Given the description of an element on the screen output the (x, y) to click on. 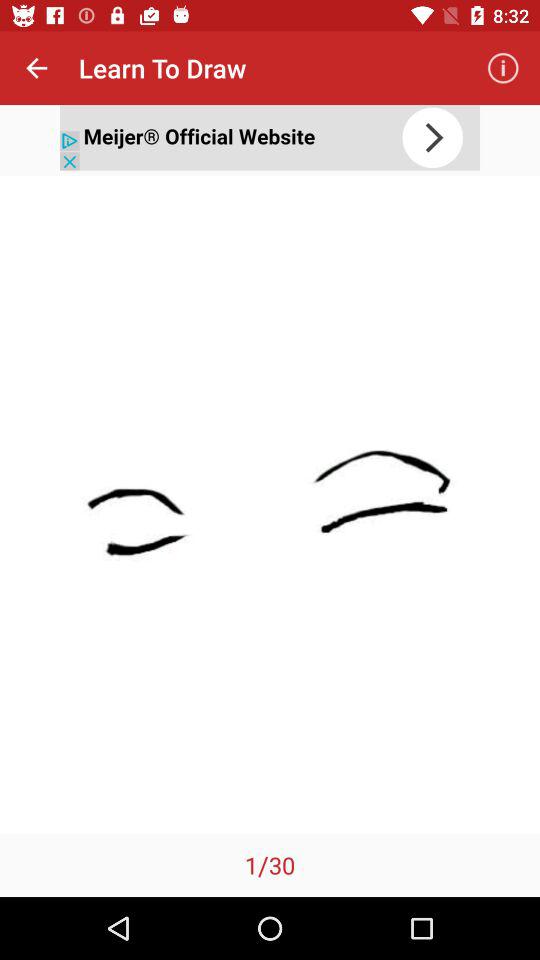
google advertisements (270, 137)
